Given the description of an element on the screen output the (x, y) to click on. 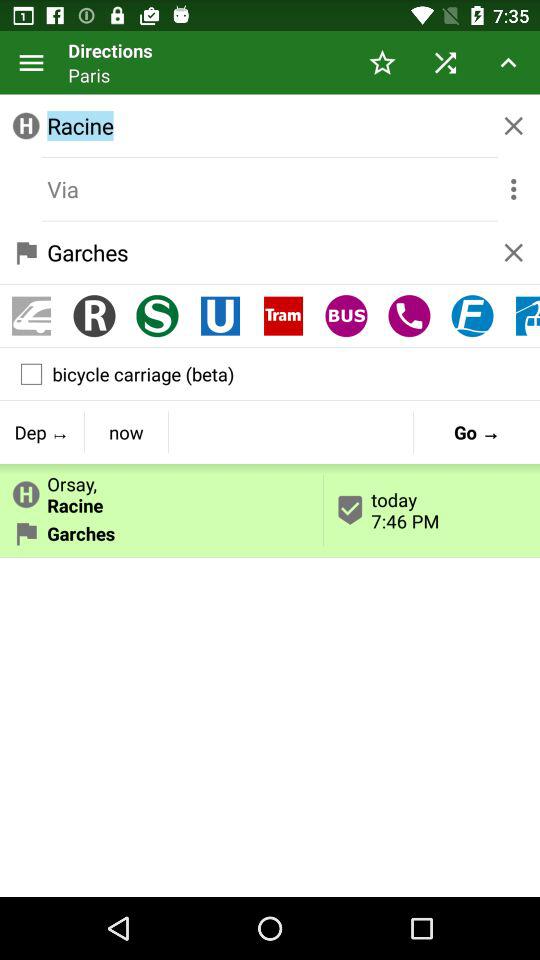
turn off icon above racine (444, 62)
